Given the description of an element on the screen output the (x, y) to click on. 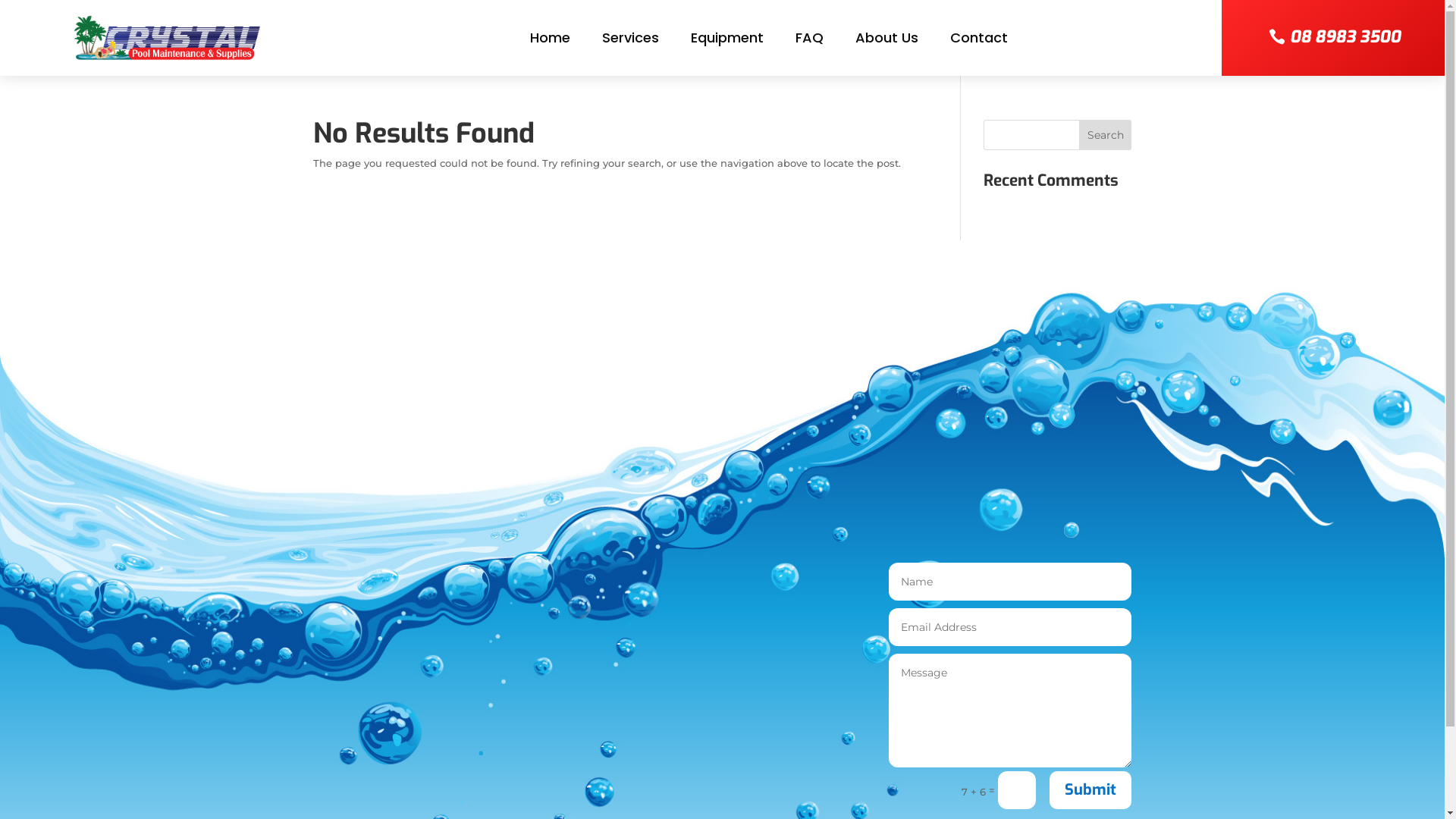
Equipment Element type: text (727, 40)
Services Element type: text (630, 40)
08 8983 3500 Element type: text (1332, 37)
Search Element type: text (1105, 134)
About Us Element type: text (886, 40)
logo-800w Element type: hover (165, 37)
Contact Element type: text (978, 40)
Submit Element type: text (1090, 790)
Home Element type: text (549, 40)
FAQ Element type: text (809, 40)
